Given the description of an element on the screen output the (x, y) to click on. 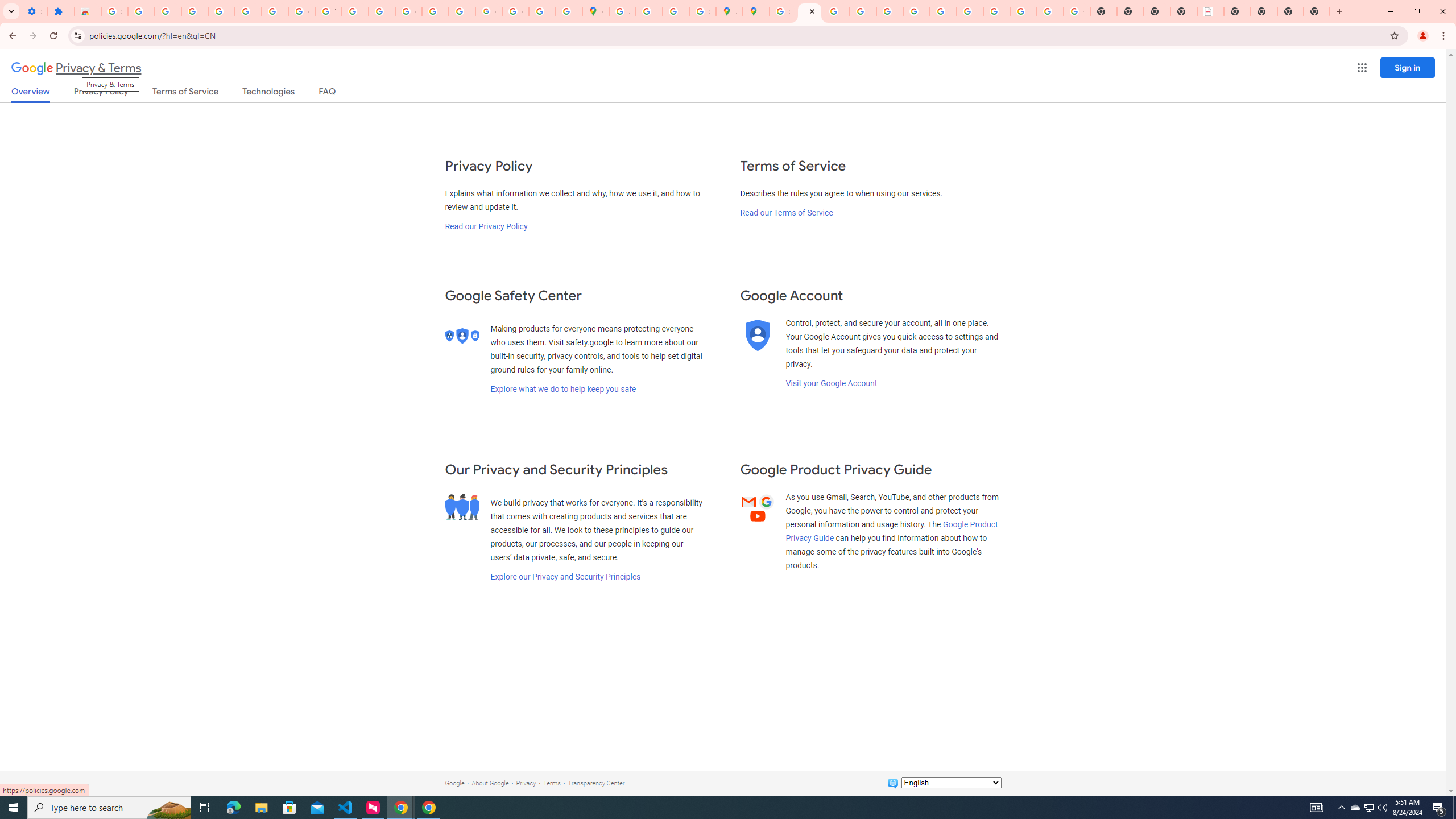
Transparency Center (595, 783)
Privacy Policy (100, 93)
Sign in - Google Accounts (782, 11)
About Google (490, 783)
Terms (551, 783)
Read our Privacy Policy (485, 226)
Visit your Google Account (830, 383)
Explore our Privacy and Security Principles (565, 576)
YouTube (943, 11)
Explore what we do to help keep you safe (563, 388)
